Given the description of an element on the screen output the (x, y) to click on. 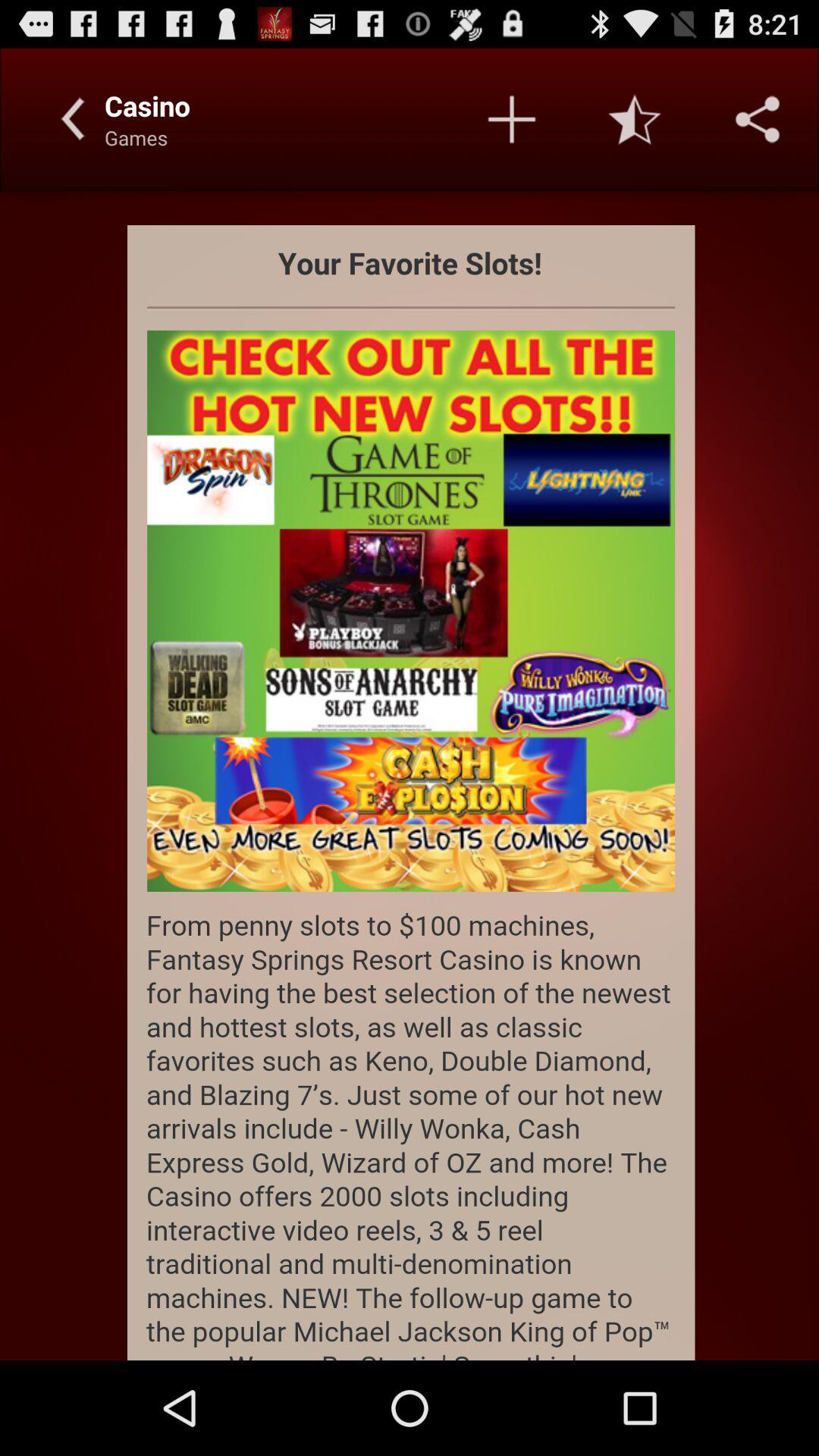
favourite (634, 119)
